Given the description of an element on the screen output the (x, y) to click on. 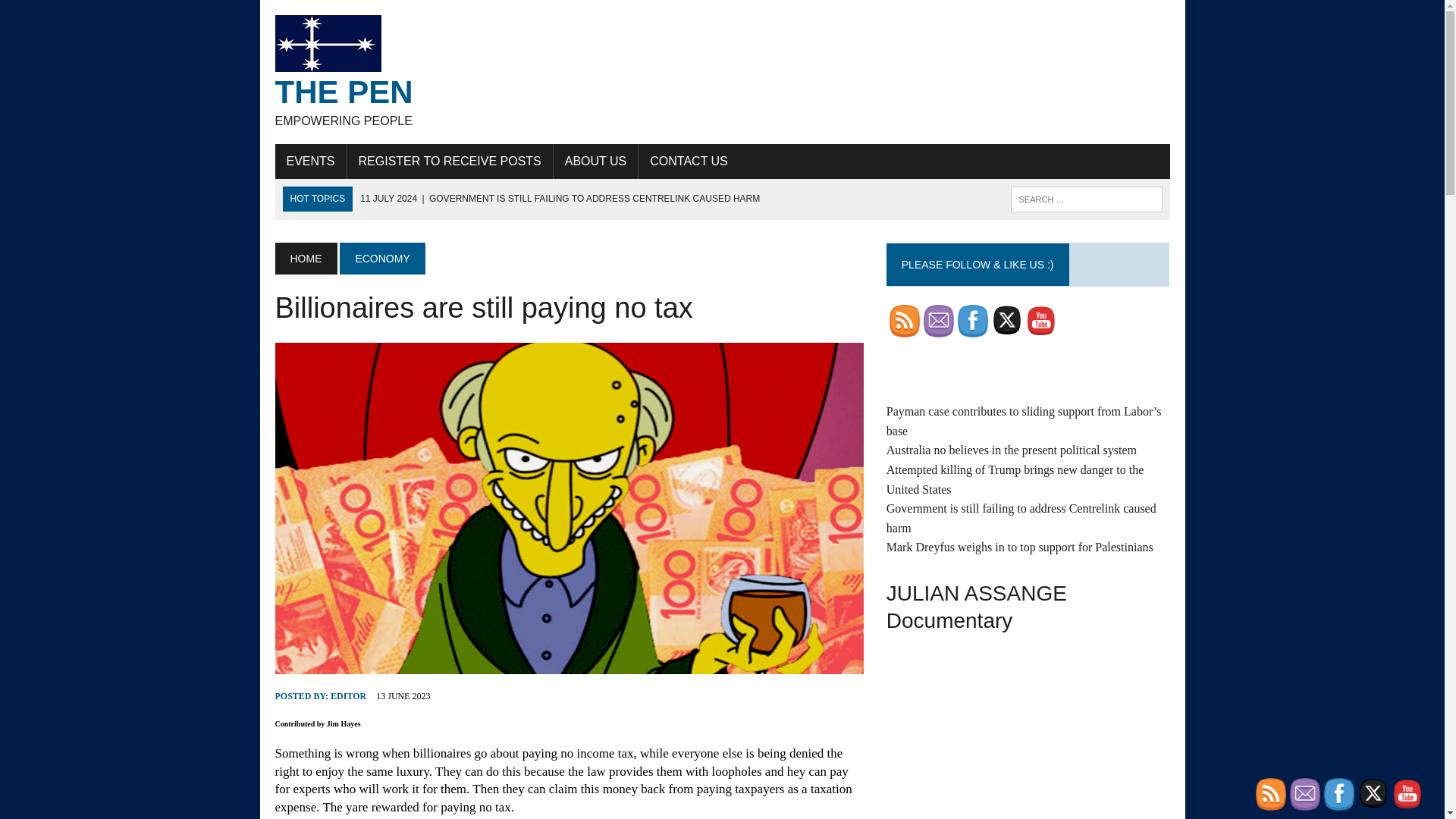
Twitter (1006, 319)
HOME (305, 258)
ECONOMY (382, 258)
ABOUT US (722, 71)
EDITOR (596, 161)
The Pen (348, 696)
Facebook (722, 71)
CONTACT US (973, 320)
Follow by Email (689, 161)
EVENTS (938, 320)
REGISTER TO RECEIVE POSTS (310, 161)
Search (450, 161)
